Given the description of an element on the screen output the (x, y) to click on. 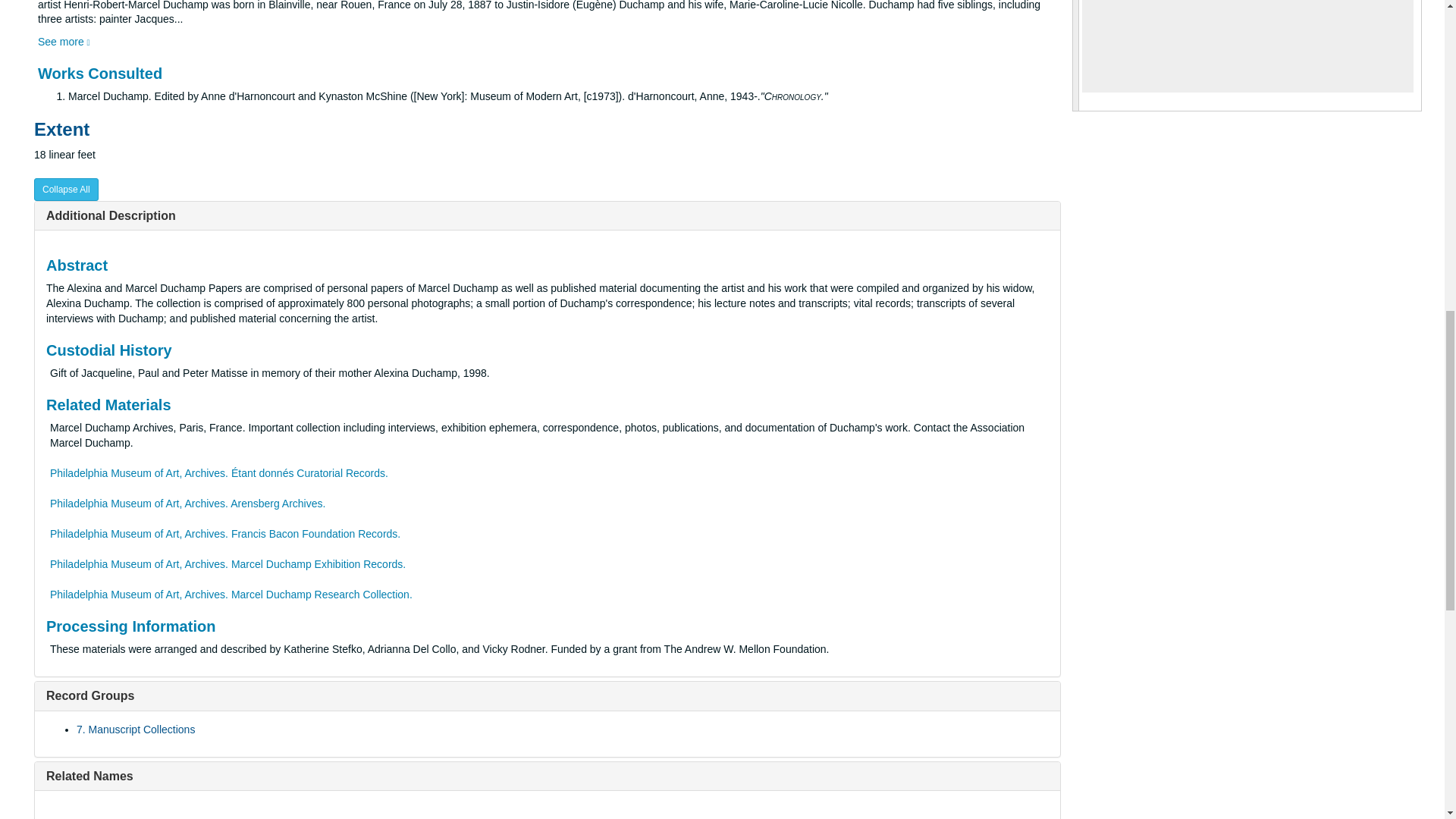
Philadelphia Museum of Art, Archives. Arensberg Archives. (186, 503)
Related Names (89, 775)
Additional Description (111, 215)
Record Groups (89, 695)
Collapse All (66, 189)
See more (63, 41)
7. Manuscript Collections (136, 729)
